Given the description of an element on the screen output the (x, y) to click on. 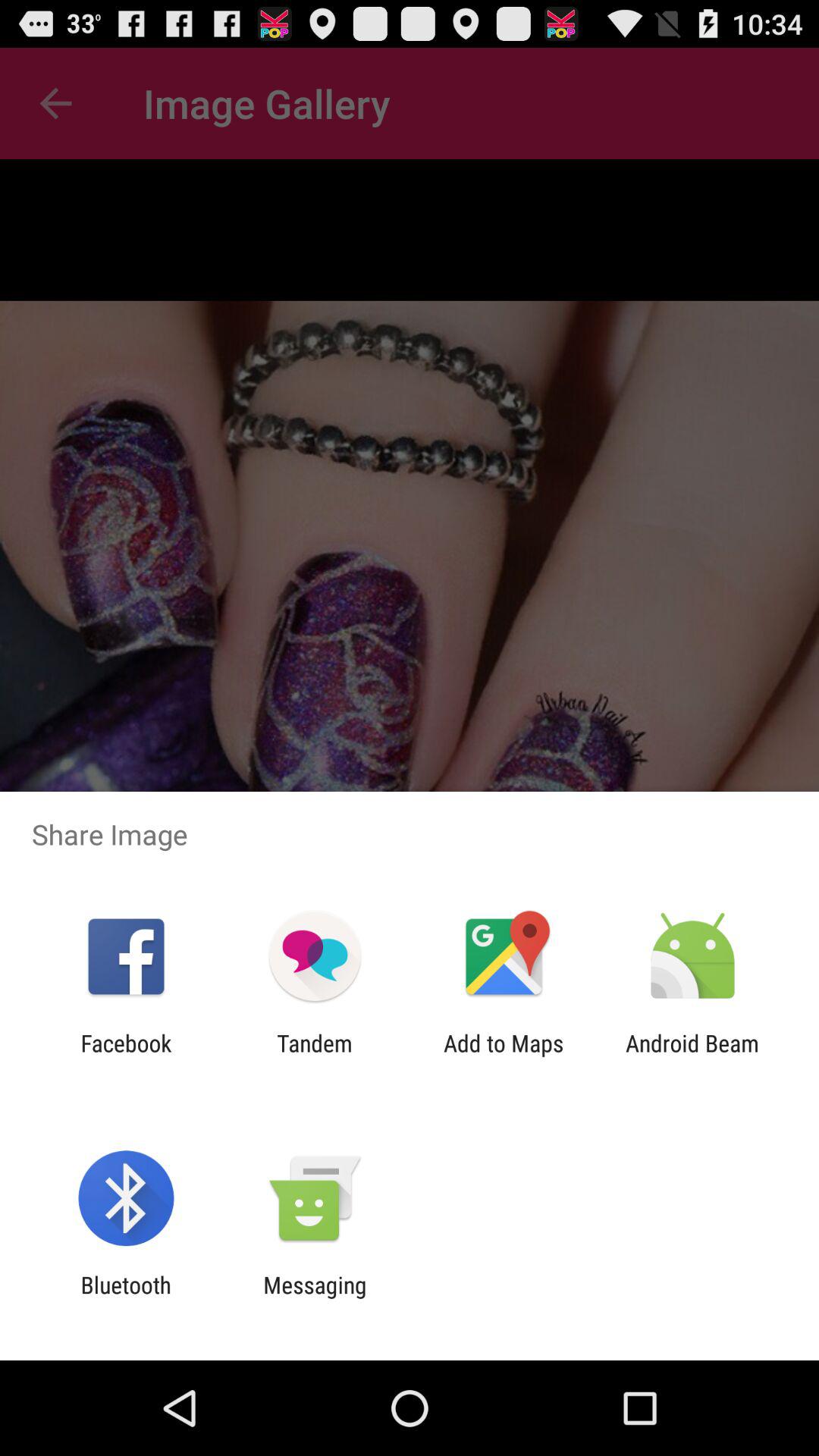
choose item to the right of the facebook app (314, 1056)
